Given the description of an element on the screen output the (x, y) to click on. 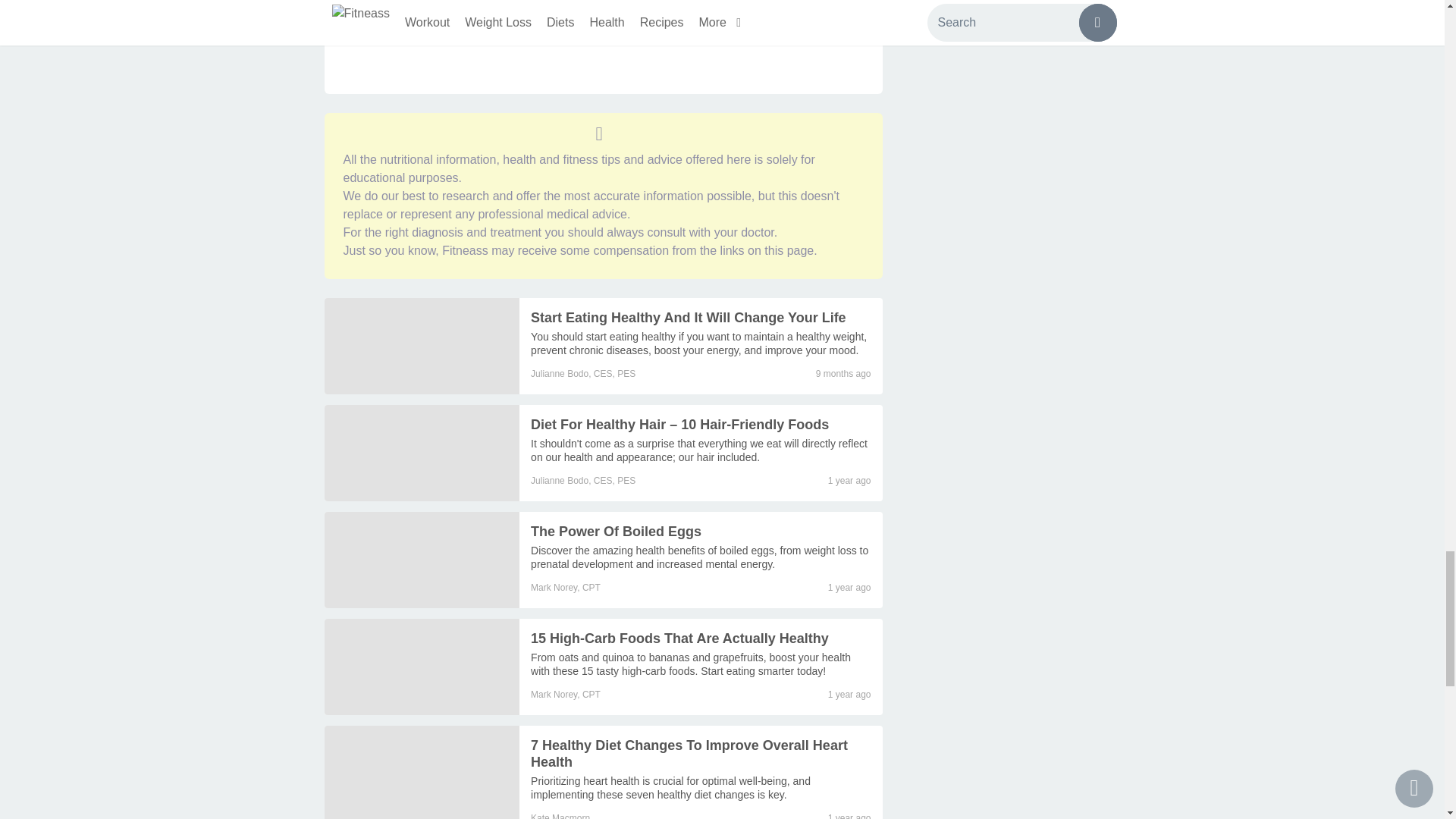
Start Eating Healthy And It Will Change Your Life (688, 317)
The Power Of Boiled Eggs (699, 557)
15 High-Carb Foods That Are Actually Healthy (421, 666)
Start Eating Healthy And It Will Change Your Life (421, 345)
The Power Of Boiled Eggs (616, 531)
Start Eating Healthy And It Will Change Your Life (698, 343)
15 High-Carb Foods That Are Actually Healthy (679, 638)
The Power Of Boiled Eggs (421, 559)
